Given the description of an element on the screen output the (x, y) to click on. 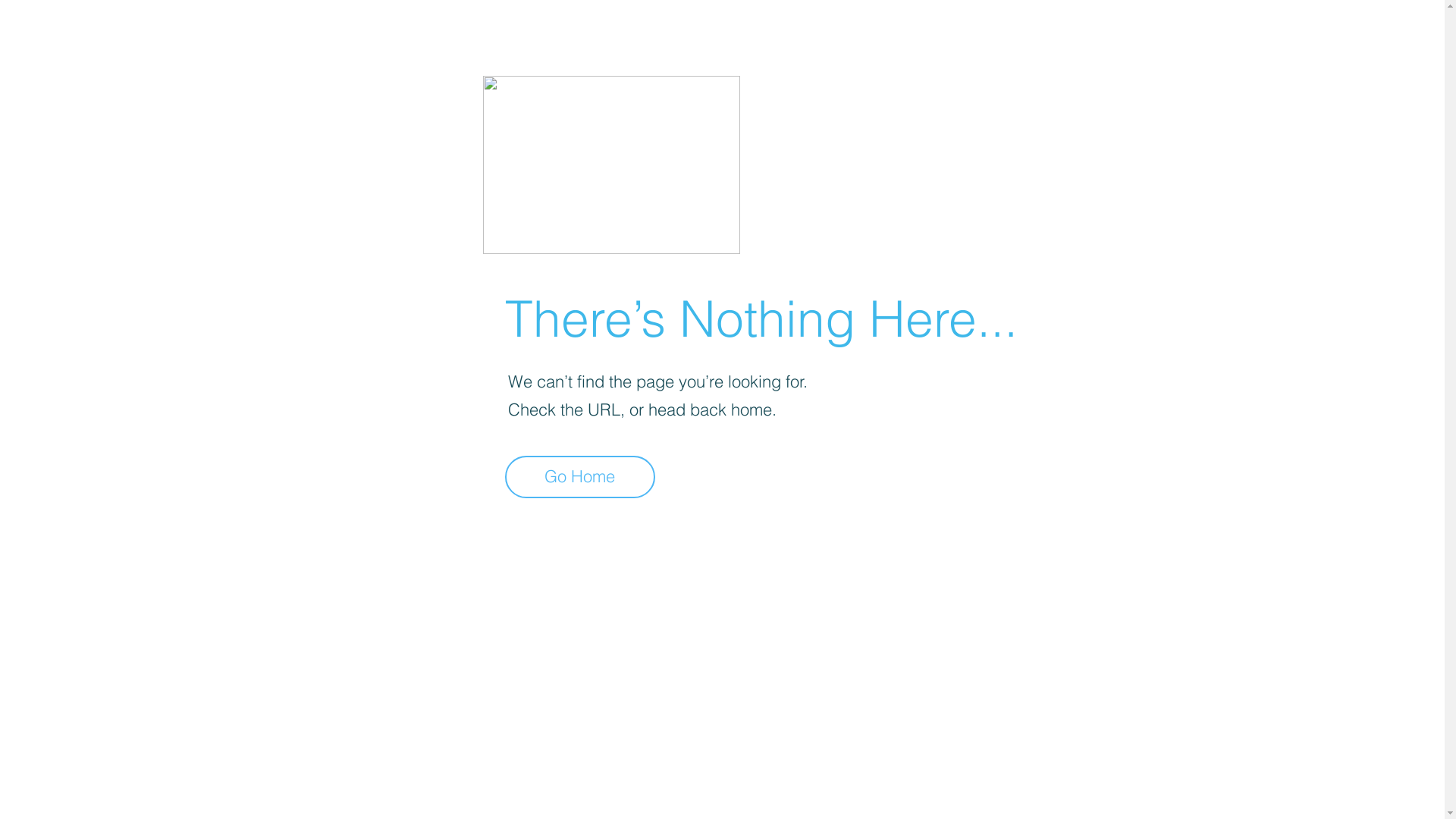
404-icon_2.png Element type: hover (610, 164)
Go Home Element type: text (580, 476)
